Given the description of an element on the screen output the (x, y) to click on. 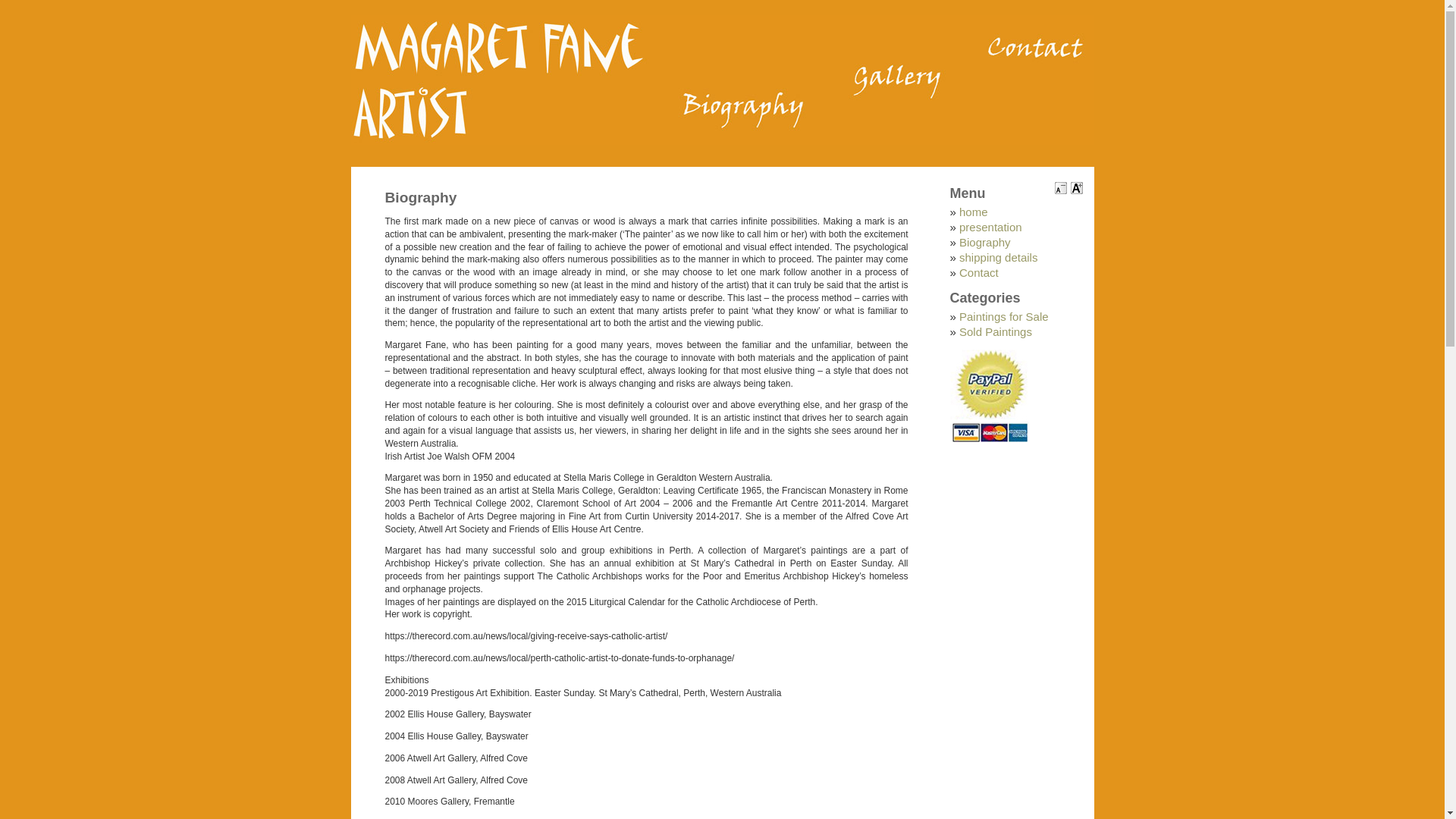
Contact Element type: text (978, 272)
shipping details Element type: text (998, 257)
Set Text Size X-Large Element type: hover (1076, 188)
Set Text Size Small Element type: hover (1060, 188)
Sold Paintings Element type: text (995, 331)
Biography Element type: text (984, 241)
home Element type: text (973, 211)
presentation Element type: text (990, 226)
Paintings for Sale Element type: text (1003, 316)
